Given the description of an element on the screen output the (x, y) to click on. 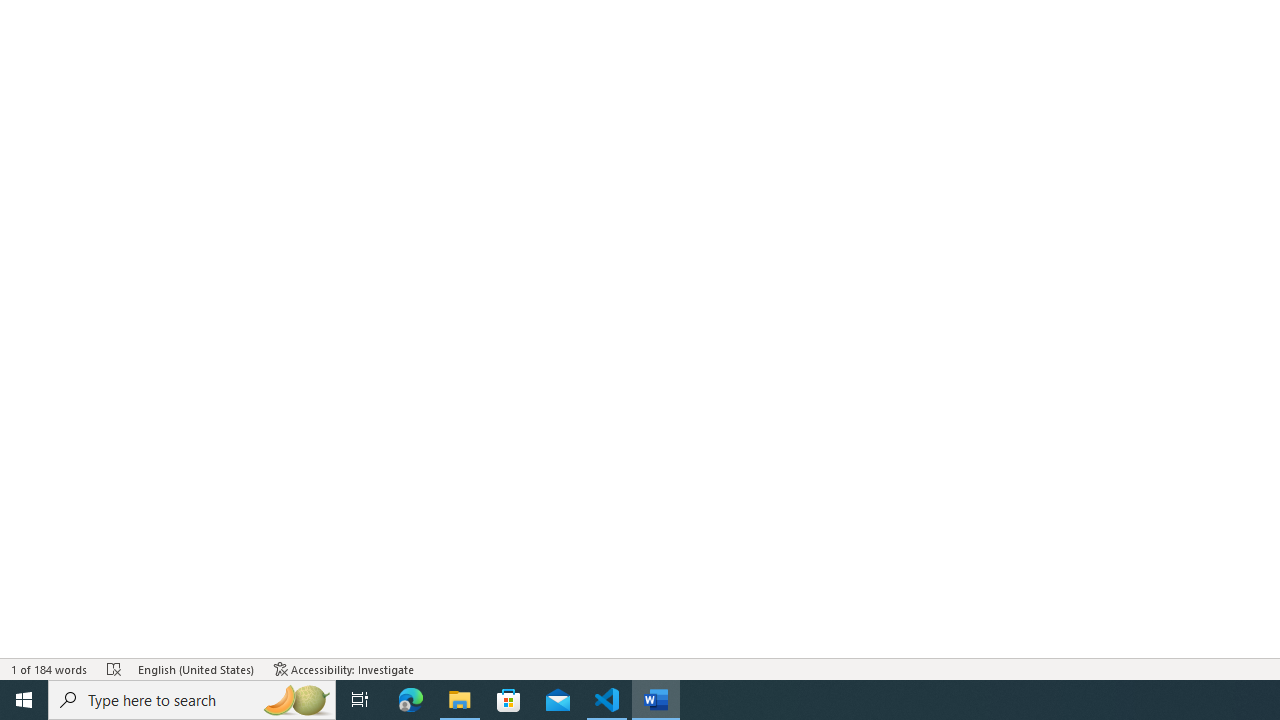
Word Count 1 of 184 words (49, 668)
